Given the description of an element on the screen output the (x, y) to click on. 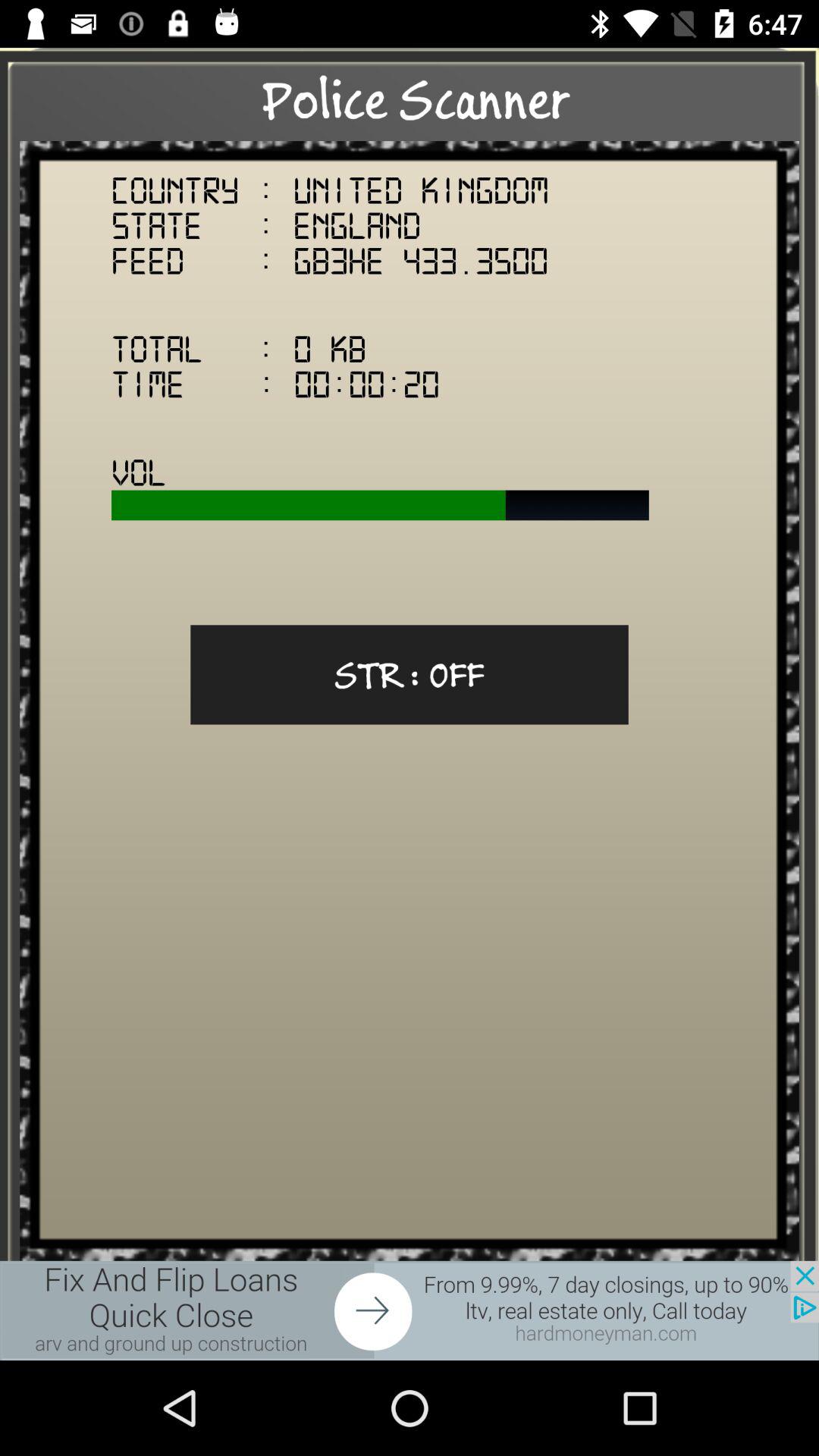
share the article (409, 1310)
